Given the description of an element on the screen output the (x, y) to click on. 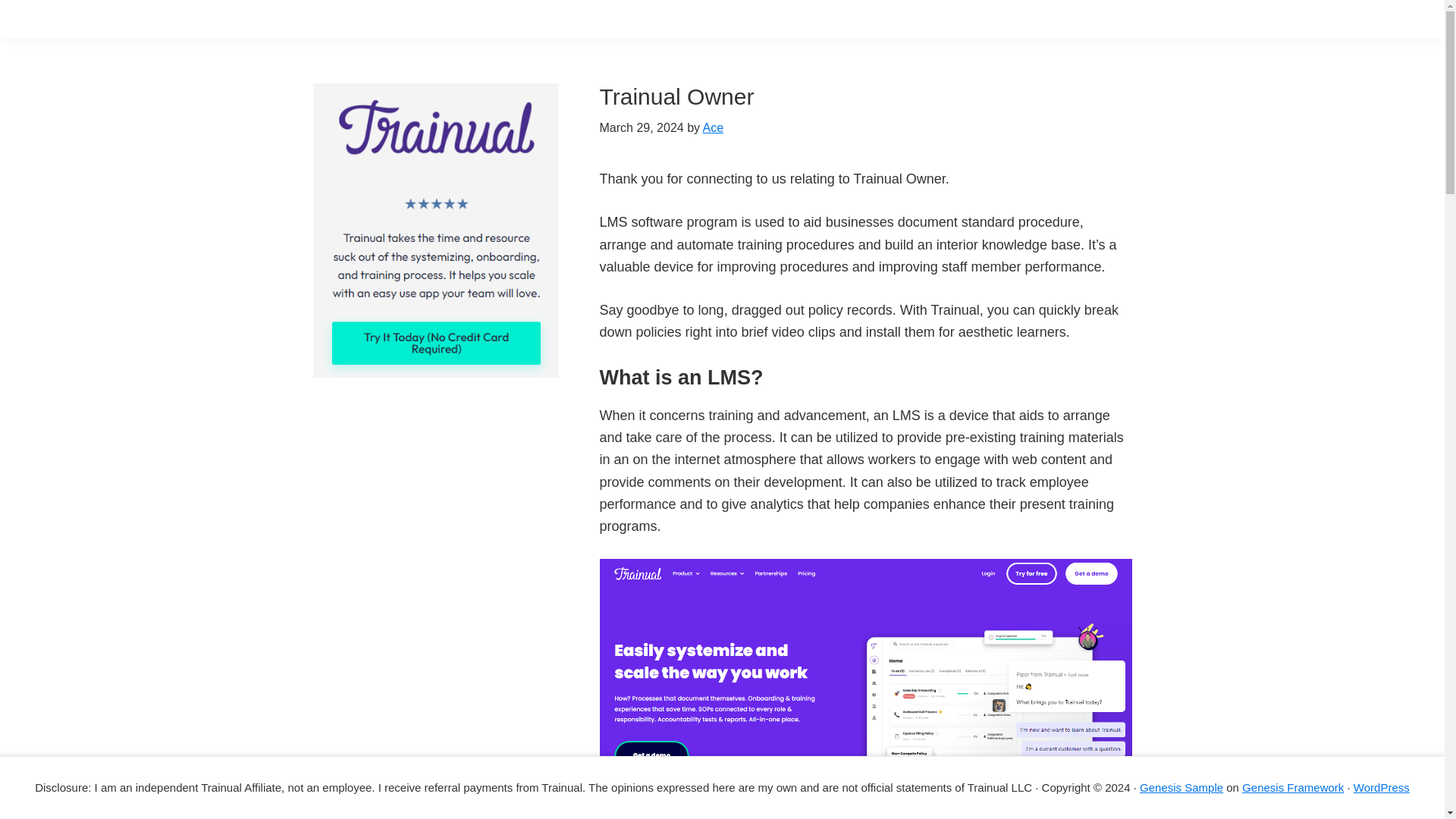
Genesis Framework (1292, 787)
Genesis Sample (1181, 787)
WordPress (1381, 787)
Ace (713, 127)
